Given the description of an element on the screen output the (x, y) to click on. 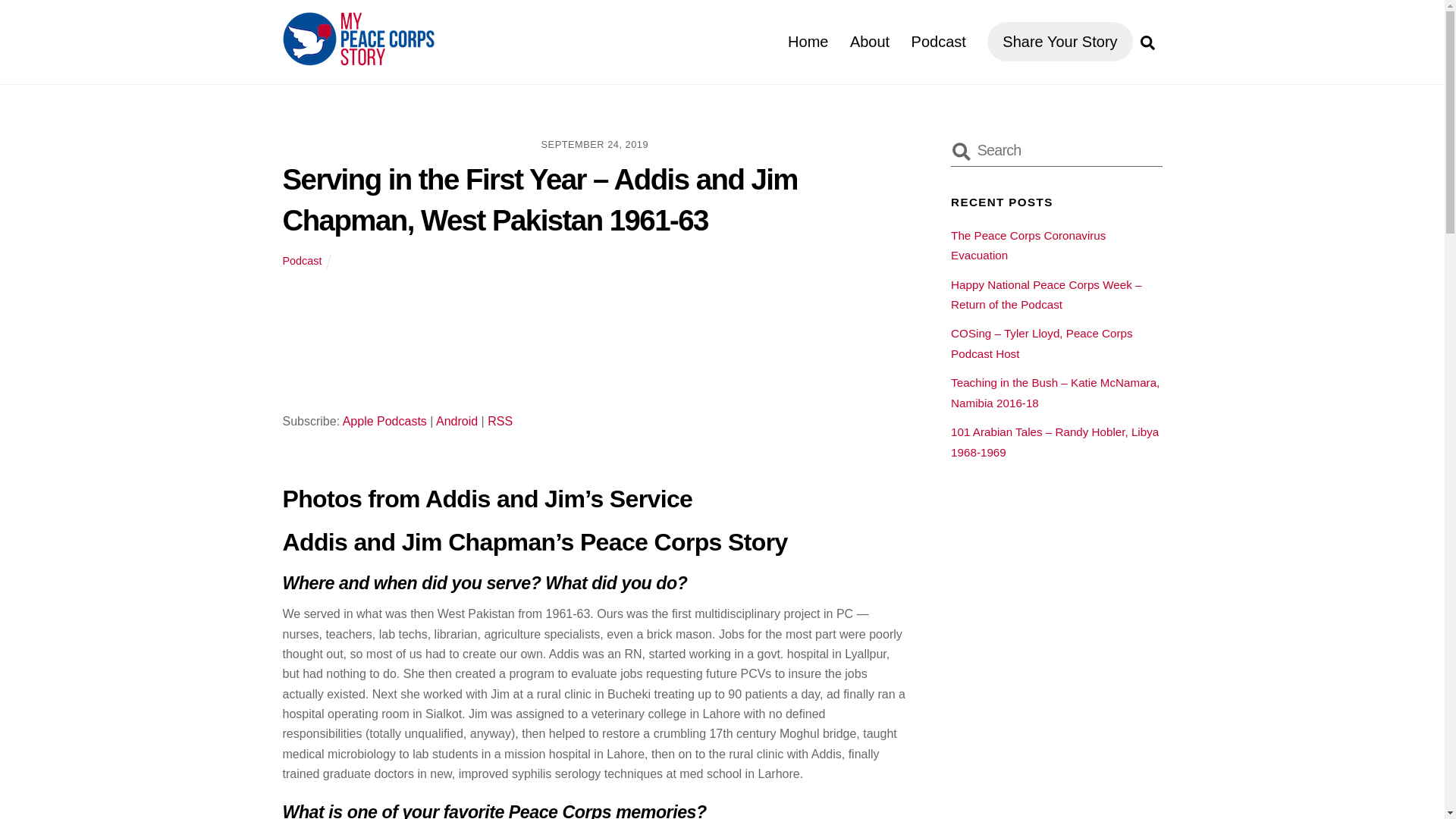
The Peace Corps Coronavirus Evacuation (1027, 245)
Subscribe on Android (456, 420)
Podcast (797, 41)
Subscribe on Apple Podcasts (301, 260)
About (384, 420)
Android (869, 41)
Apple Podcasts (456, 420)
RSS (384, 420)
Podcast (499, 420)
Home (938, 41)
Subscribe via RSS (807, 41)
Search (499, 420)
Share Your Story (1055, 150)
Blubrry Podcast Player (1059, 41)
